Given the description of an element on the screen output the (x, y) to click on. 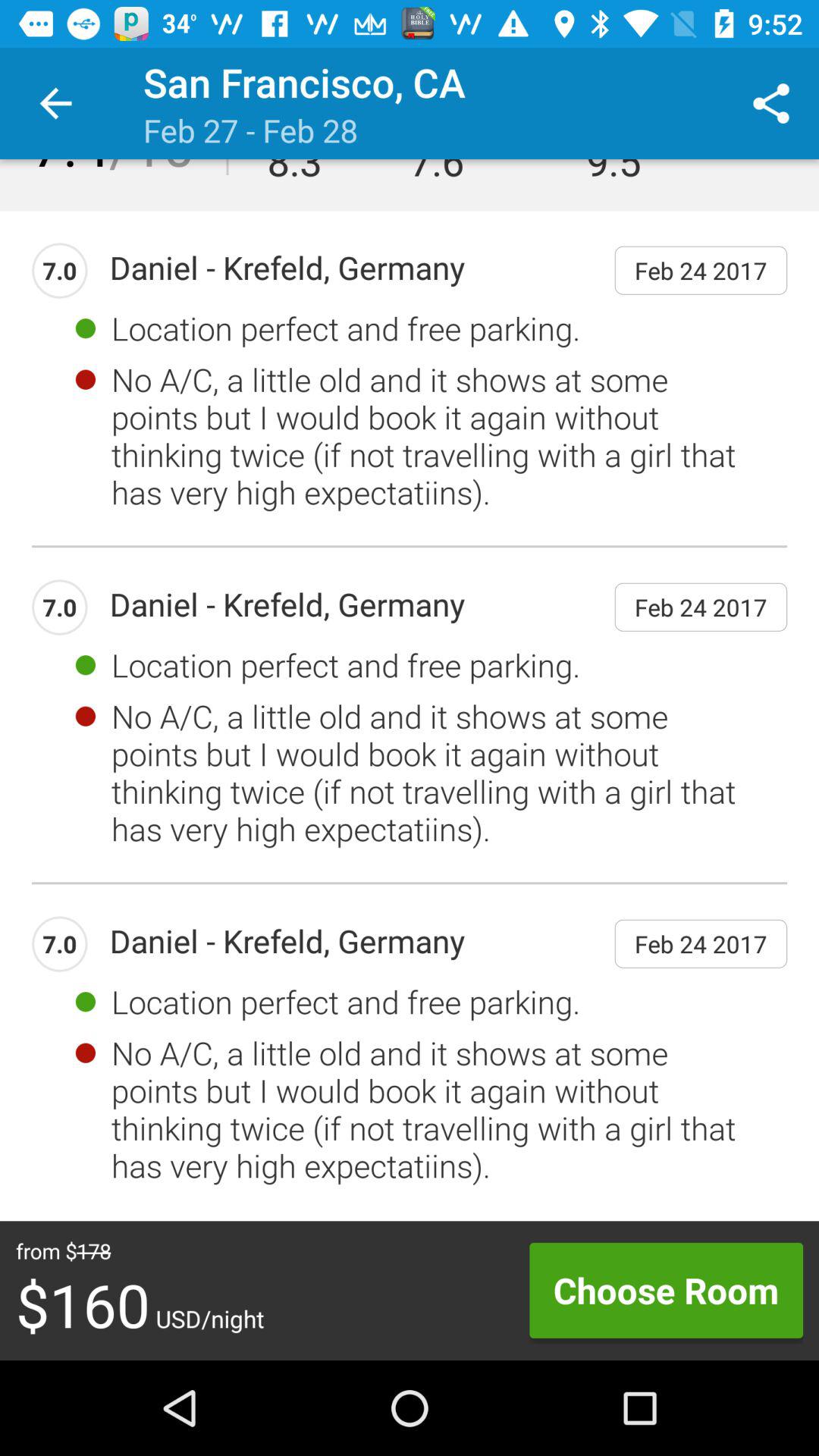
tap item next to the san francisco, ca icon (55, 103)
